Given the description of an element on the screen output the (x, y) to click on. 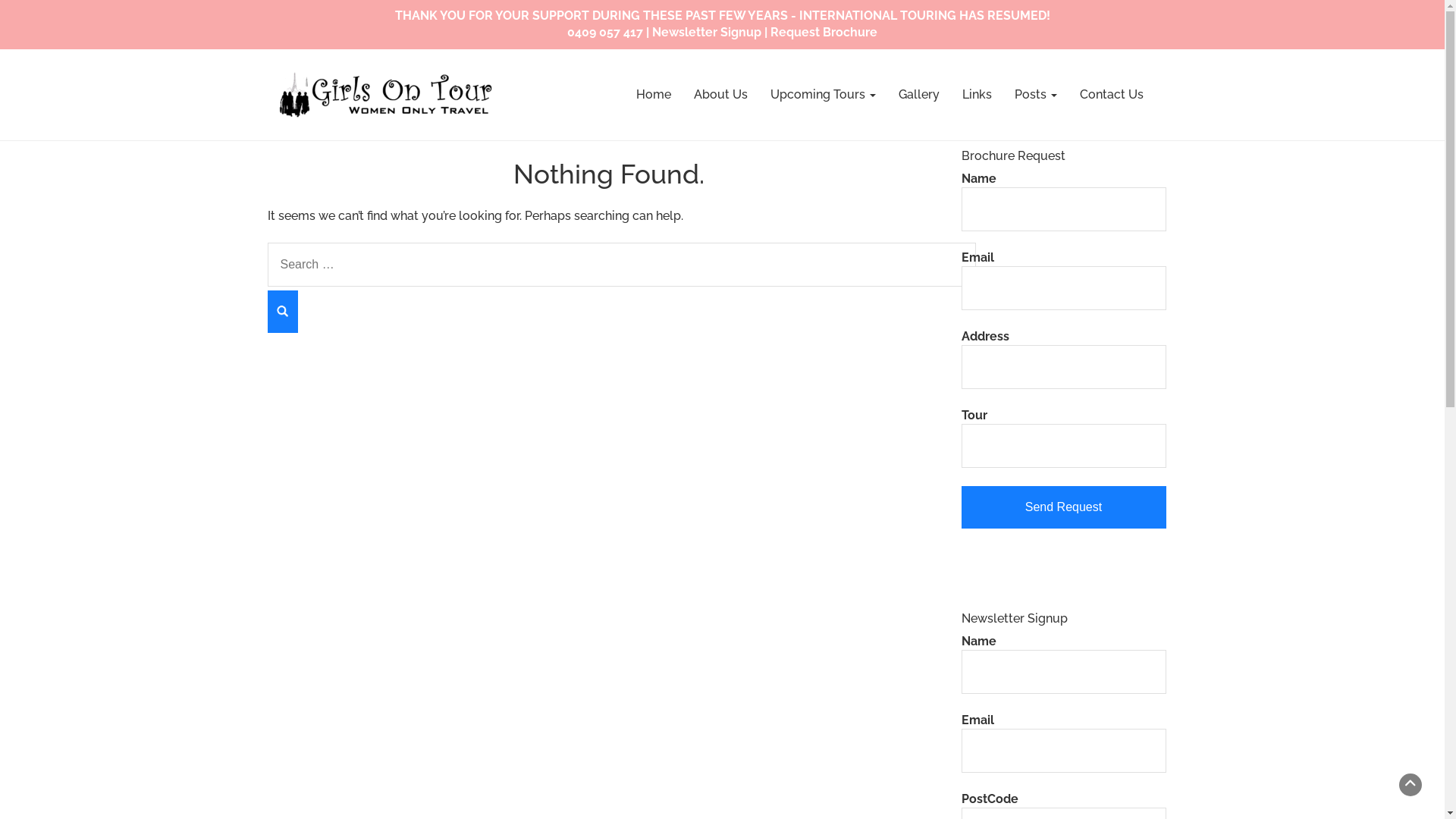
Send Request Element type: text (1063, 507)
Search Element type: text (281, 311)
Posts Element type: text (1034, 94)
Home Element type: text (653, 94)
0409 057 417 Element type: text (605, 32)
About Us Element type: text (720, 94)
Newsletter Signup Element type: text (706, 32)
Contact Us Element type: text (1110, 94)
Links Element type: text (976, 94)
Request Brochure Element type: text (823, 32)
Gallery Element type: text (918, 94)
Search for: Element type: hover (620, 264)
Upcoming Tours Element type: text (822, 94)
